Given the description of an element on the screen output the (x, y) to click on. 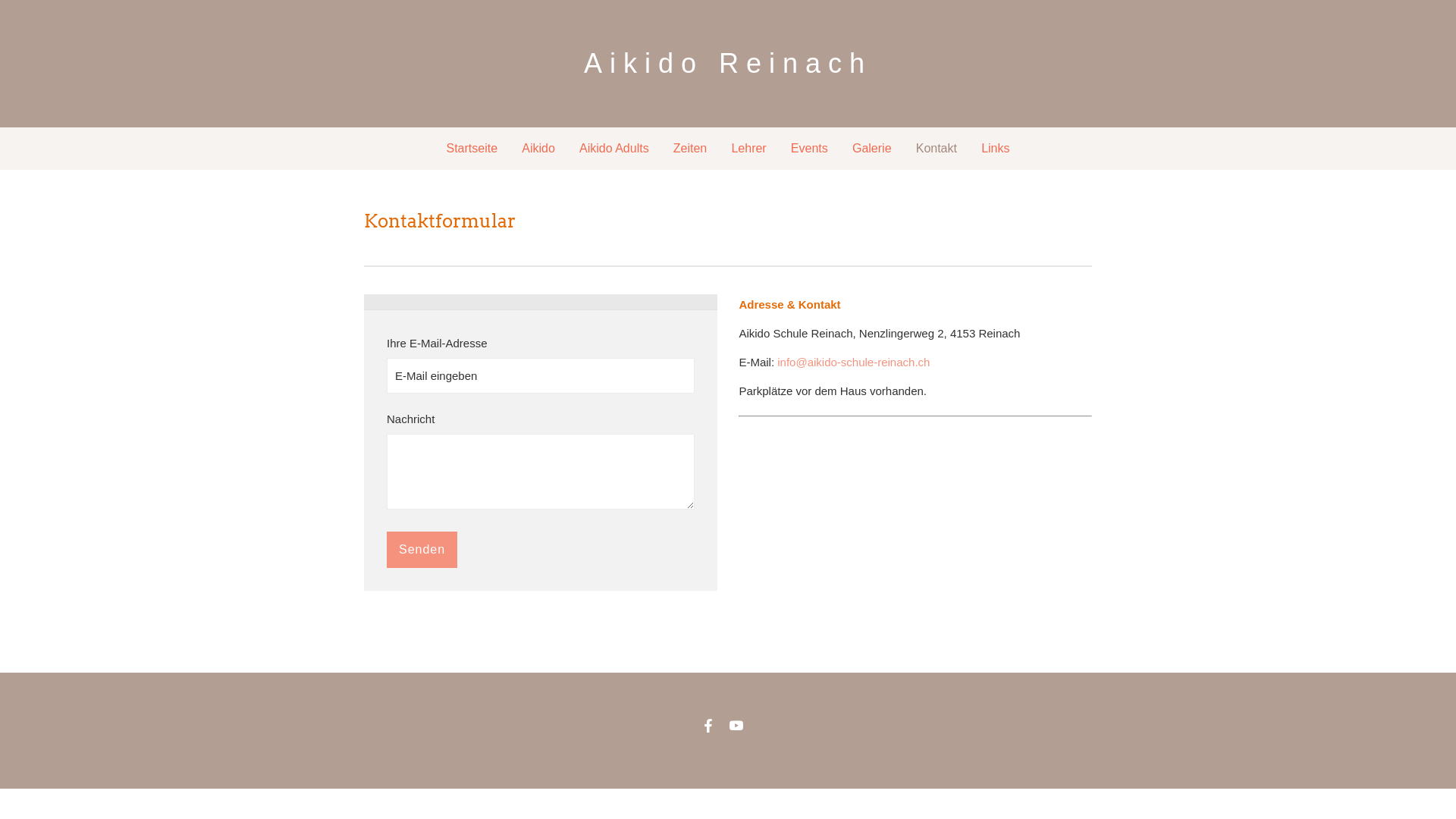
Zeiten Element type: text (689, 148)
Galerie Element type: text (871, 148)
Aikido Element type: text (538, 148)
Startseite Element type: text (471, 148)
Senden Element type: text (421, 549)
Kontakt Element type: text (936, 148)
info@aikido-schule-reinach.ch Element type: text (853, 361)
Aikido Adults Element type: text (613, 148)
Aikido Reinach Element type: text (727, 63)
Lehrer Element type: text (748, 148)
Events Element type: text (809, 148)
Links Element type: text (994, 148)
